Given the description of an element on the screen output the (x, y) to click on. 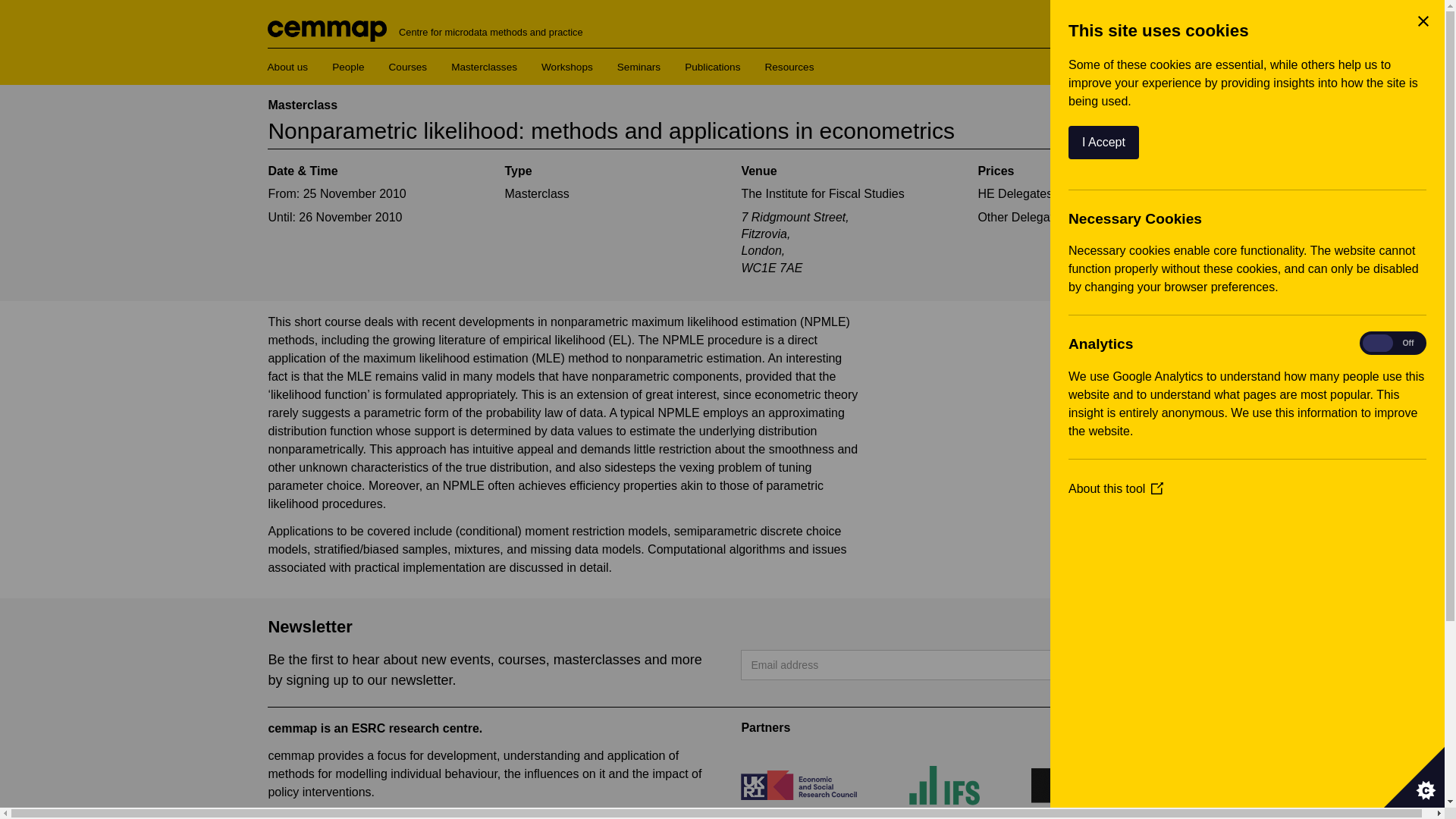
People (347, 66)
Submit (1132, 665)
About us (286, 66)
Resources (788, 66)
Search (1147, 57)
Workshops (566, 66)
Submit (1132, 665)
Masterclasses (483, 66)
Search (1147, 57)
Courses (407, 66)
Publications (711, 66)
Seminars (639, 66)
